Given the description of an element on the screen output the (x, y) to click on. 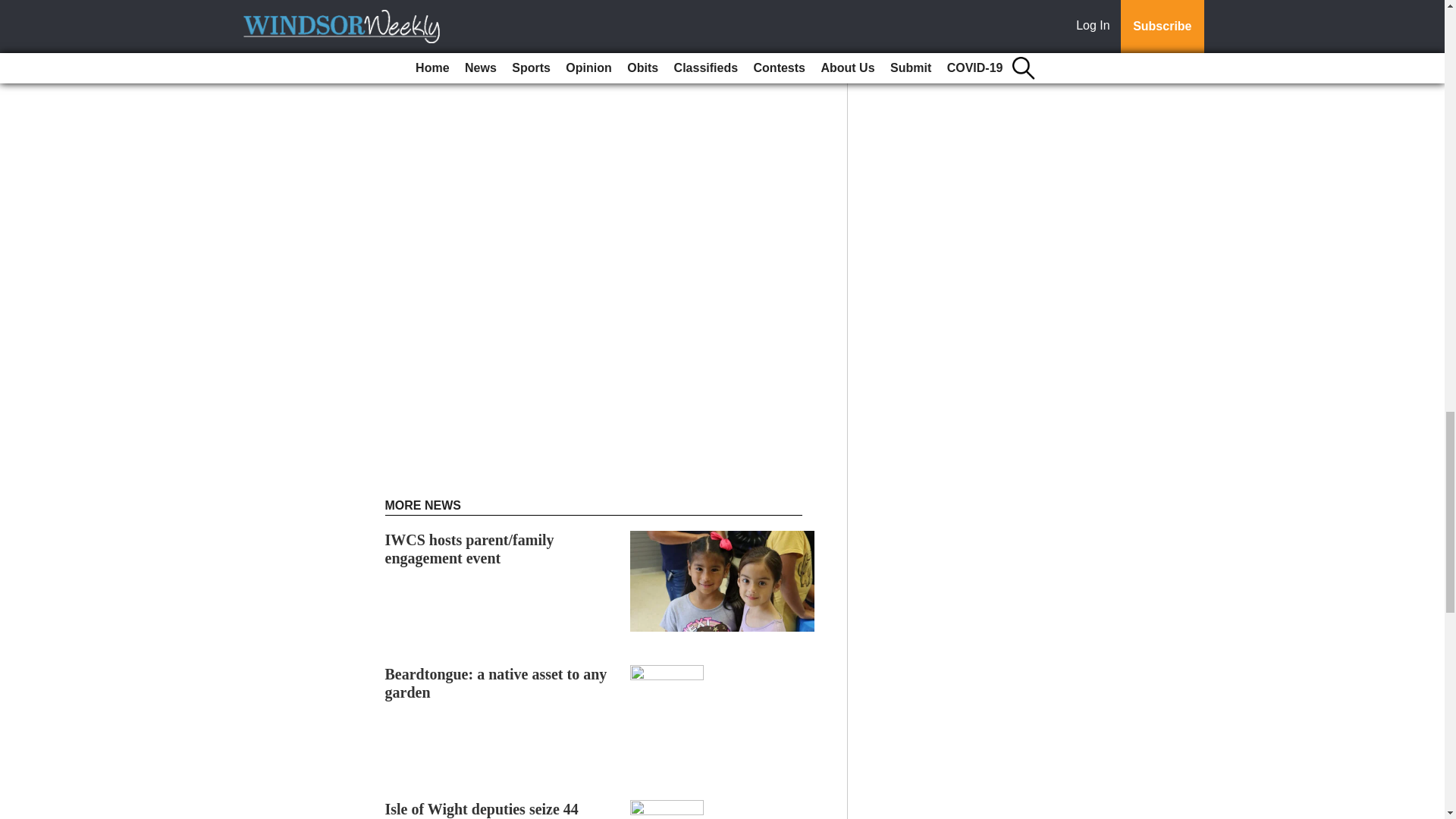
Beardtongue: a native asset to any garden (496, 683)
Isle of Wight deputies seize 44 animals from Carrollton home (484, 809)
Beardtongue: a native asset  to any garden (496, 683)
Isle of Wight deputies seize 44 animals from Carrollton home (484, 809)
